Given the description of an element on the screen output the (x, y) to click on. 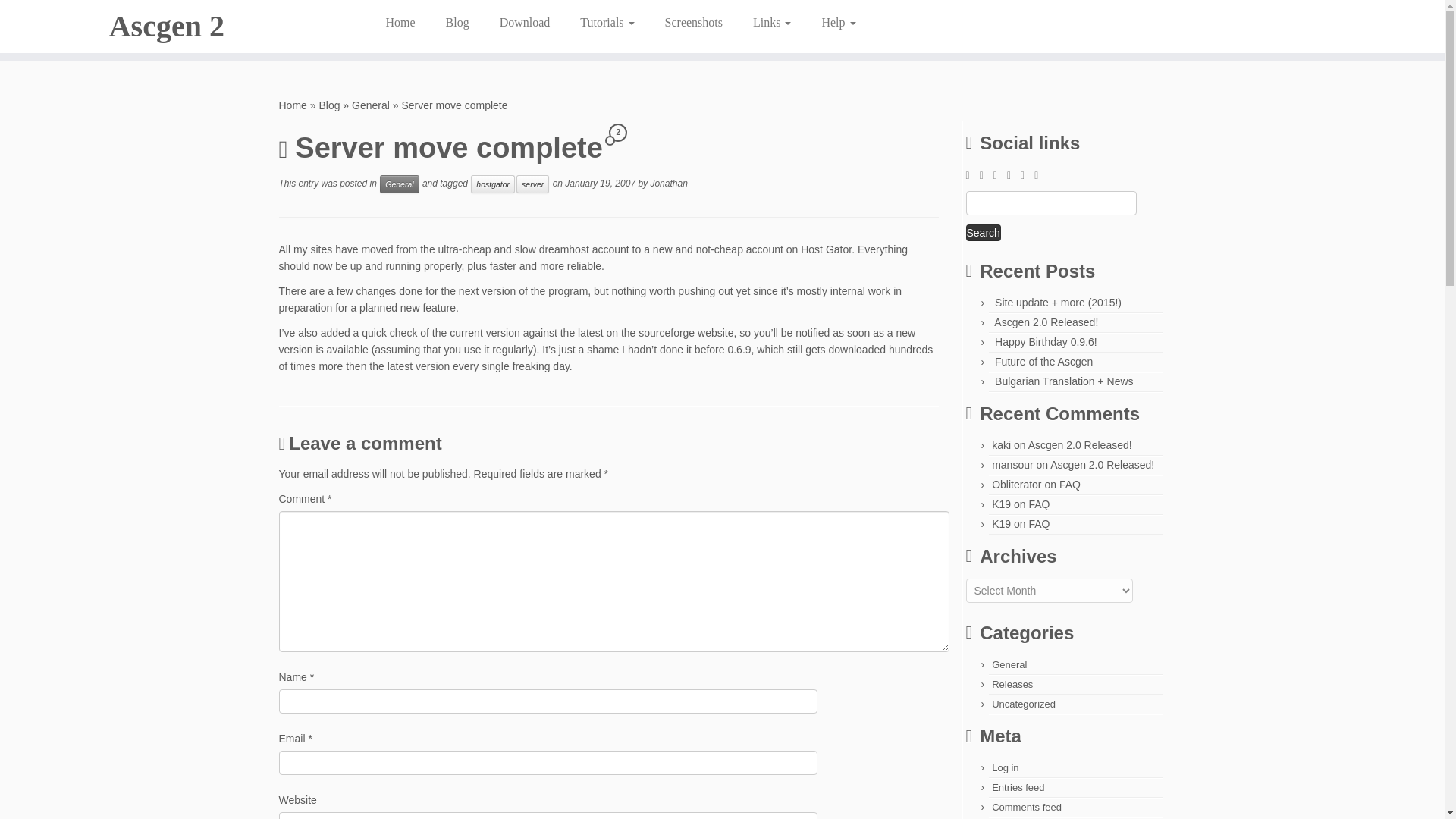
January 19, 2007 (599, 183)
Ascgen 2 (293, 105)
Screenshots (693, 22)
Blog (457, 22)
server (532, 184)
Download (525, 22)
Help (831, 22)
View all posts in hostgator (492, 184)
Jonathan (668, 183)
View all posts in server (532, 184)
